Given the description of an element on the screen output the (x, y) to click on. 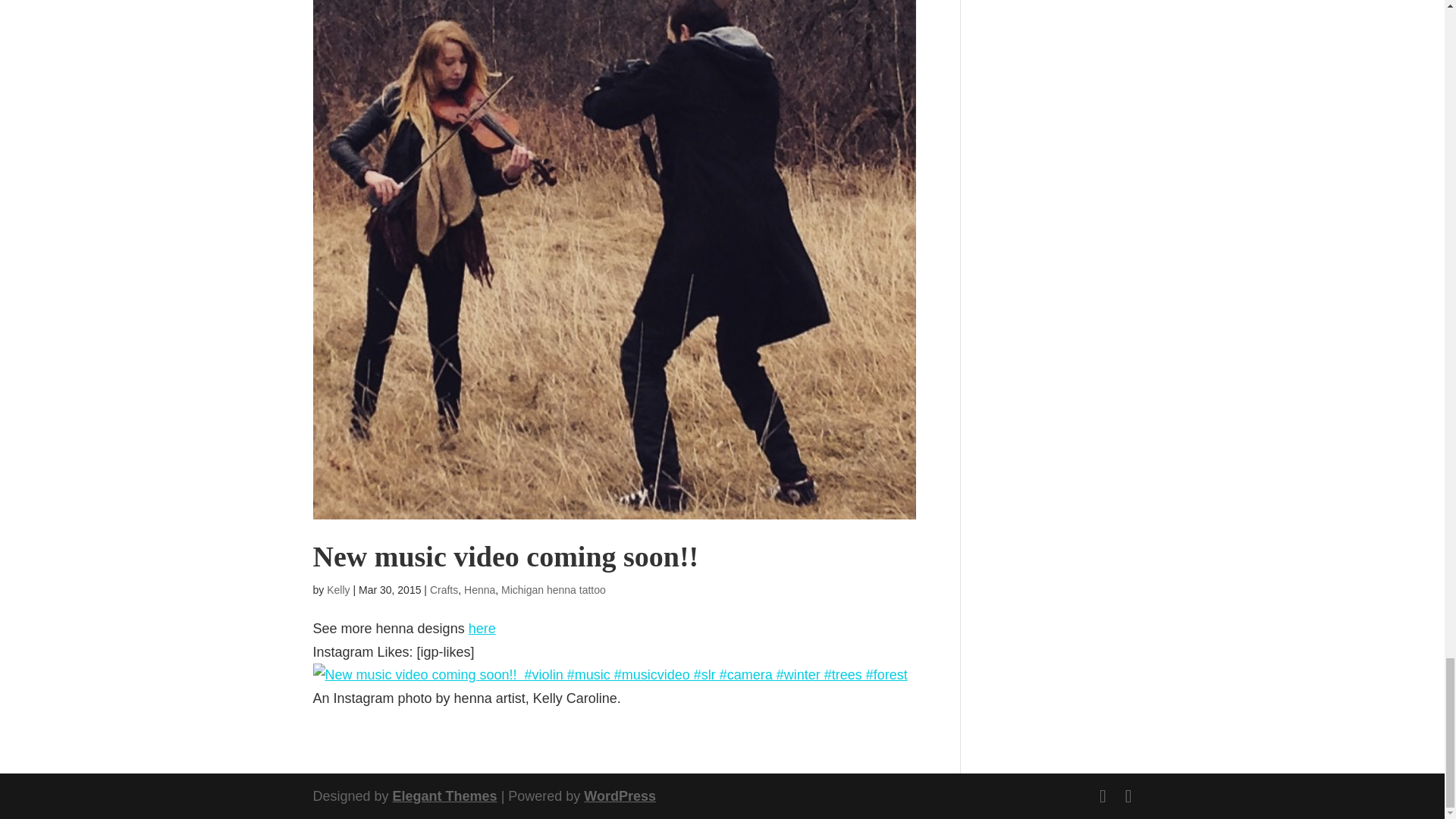
Posts by Kelly (337, 589)
Premium WordPress Themes (445, 795)
